Given the description of an element on the screen output the (x, y) to click on. 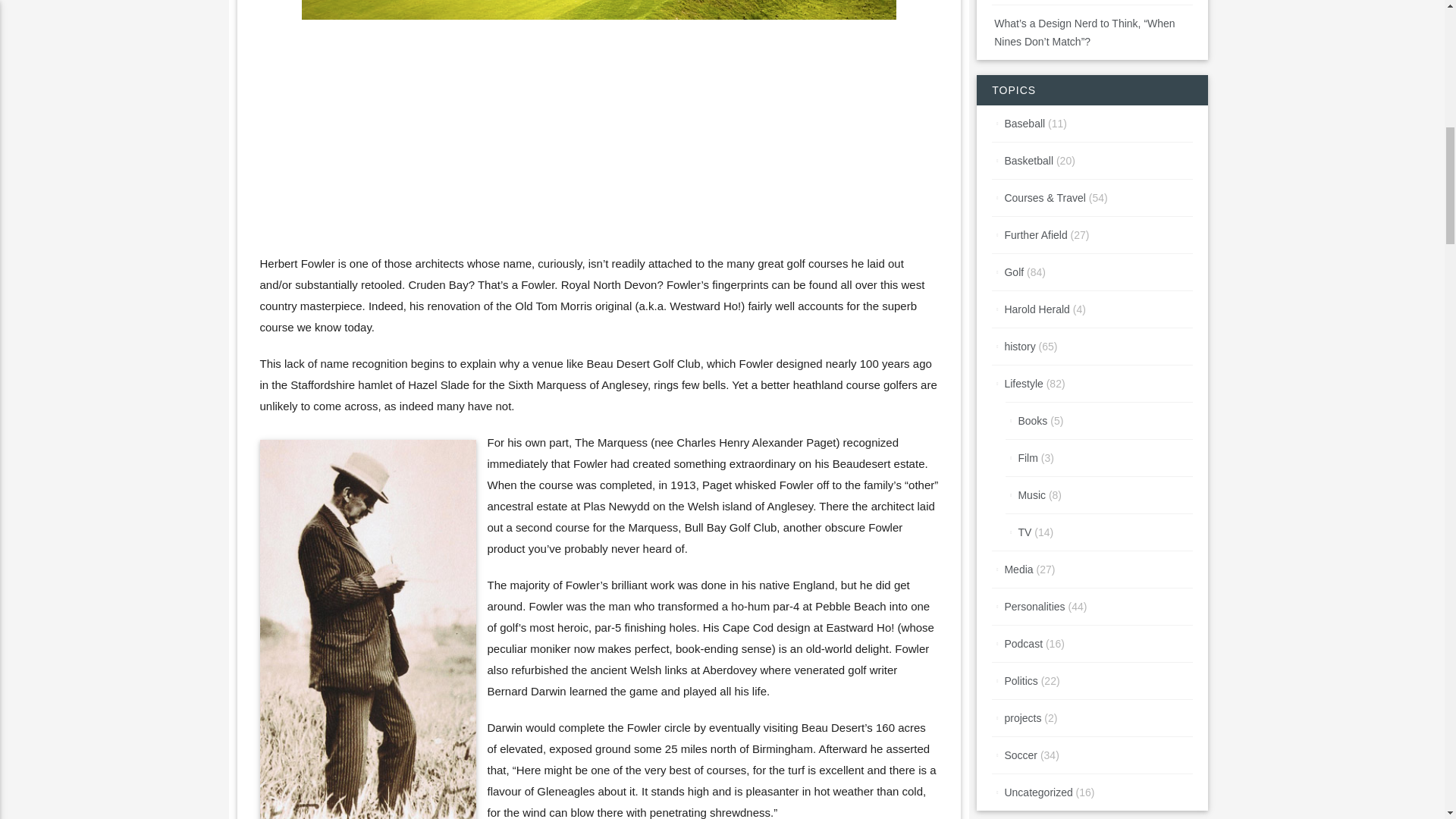
history (1019, 346)
Lifestyle (1023, 383)
Baseball (1024, 123)
Books (1031, 420)
Basketball (1028, 160)
Further Afield (1035, 234)
Harold Herald (1036, 309)
Golf (1013, 272)
